Given the description of an element on the screen output the (x, y) to click on. 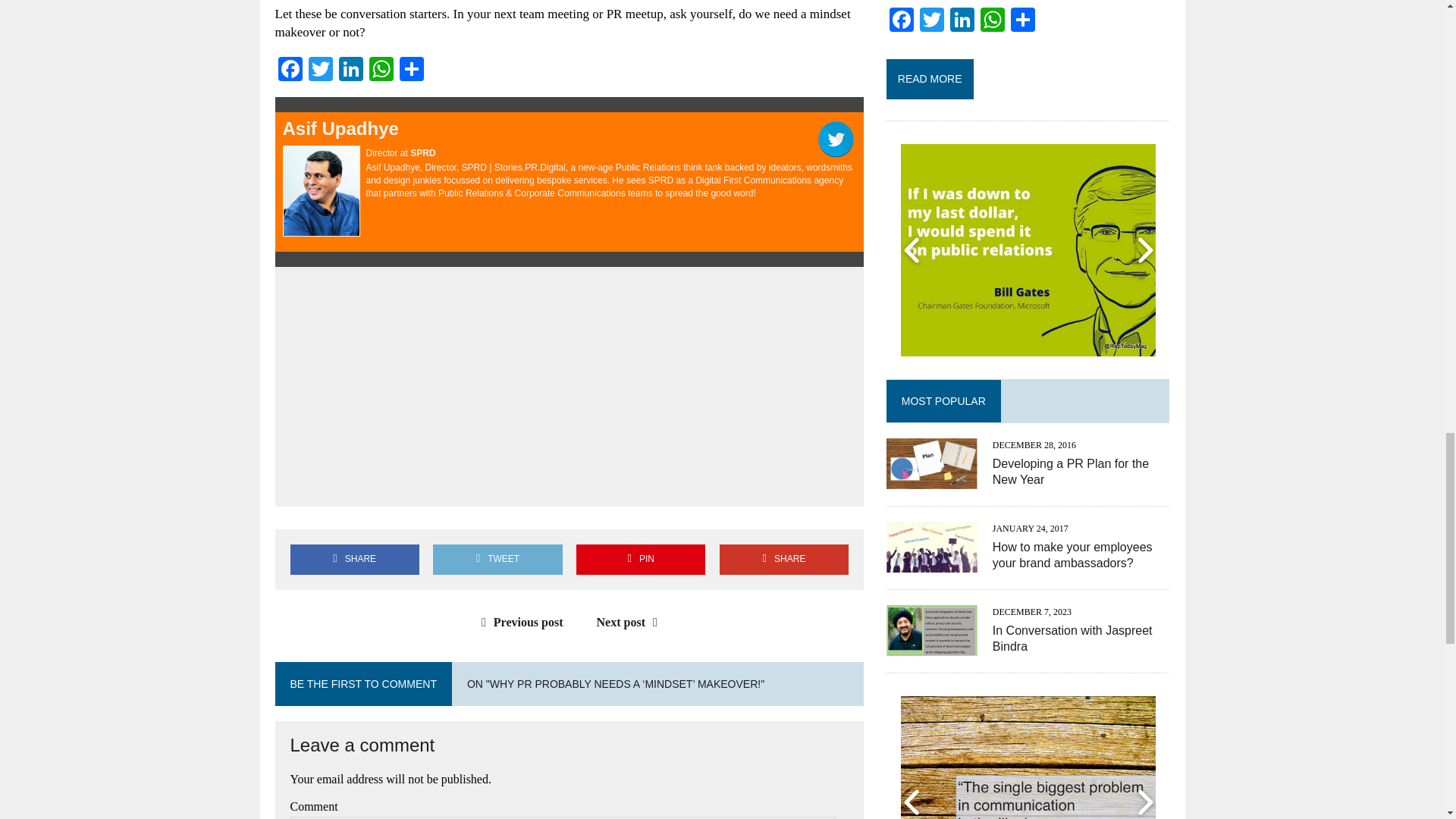
Facebook (289, 70)
Twitter (319, 70)
WhatsApp (380, 70)
LinkedIn (349, 70)
Asif Upadhye (339, 127)
